Given the description of an element on the screen output the (x, y) to click on. 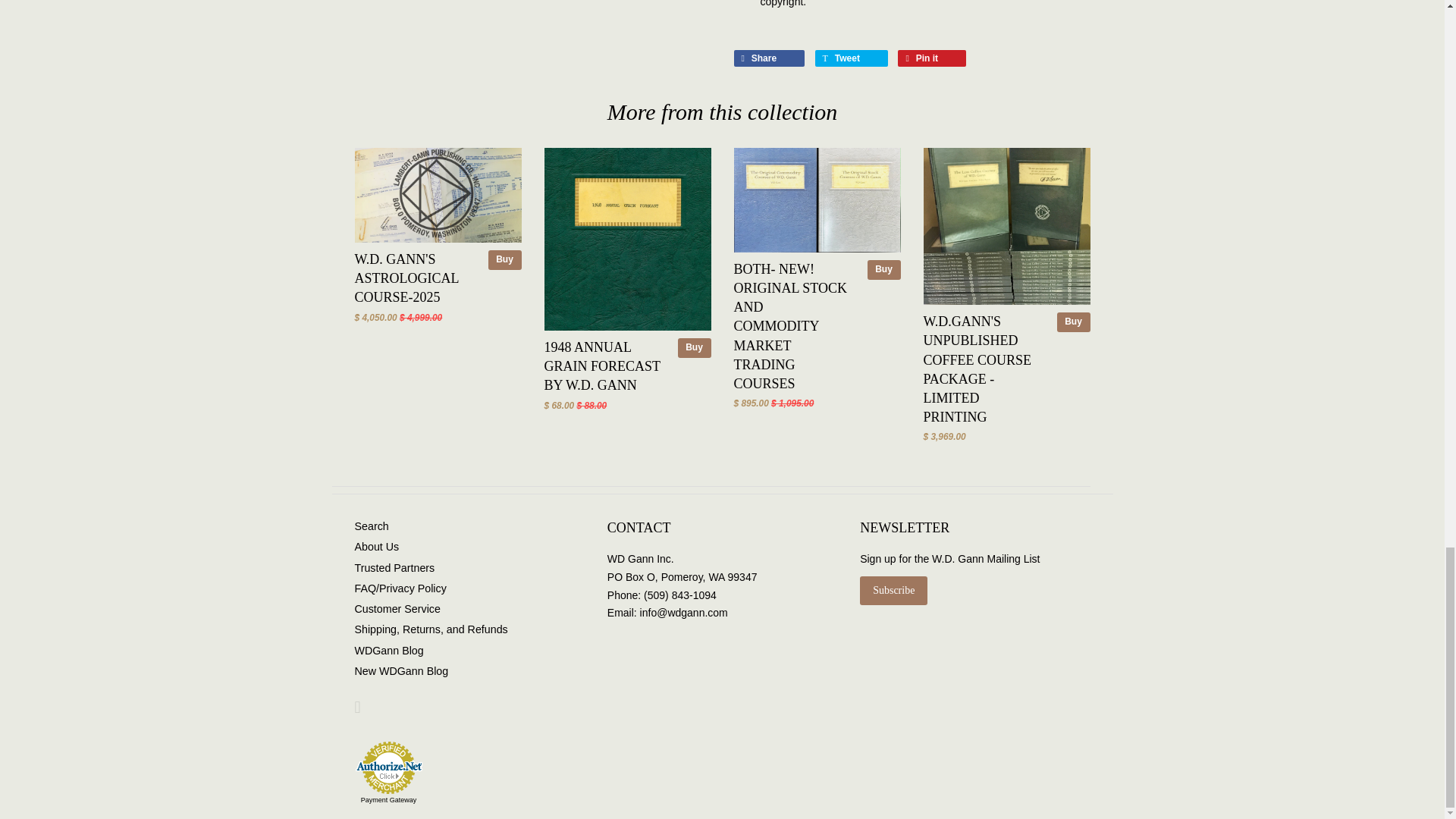
Subscribe (893, 590)
WD Gann, Inc on Facebook (358, 709)
